Given the description of an element on the screen output the (x, y) to click on. 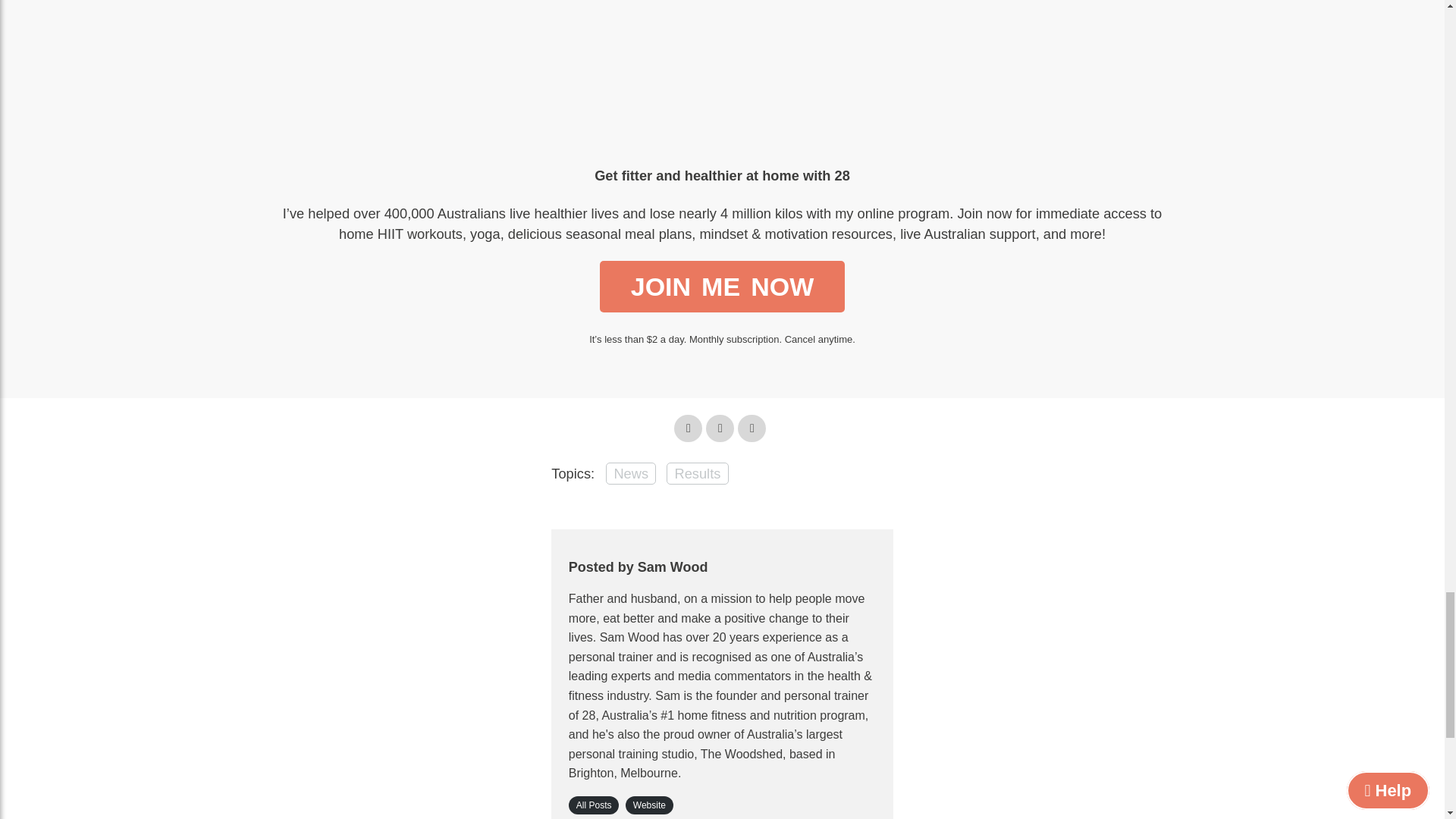
Website (649, 805)
News (630, 473)
Results Tag (697, 473)
JOIN ME NOW (721, 286)
All Posts (594, 805)
Share on Twitter (687, 428)
Share on Facebook (719, 428)
News Tag (630, 473)
Share on LinkedIn (751, 428)
Share on Facebook (719, 428)
